Given the description of an element on the screen output the (x, y) to click on. 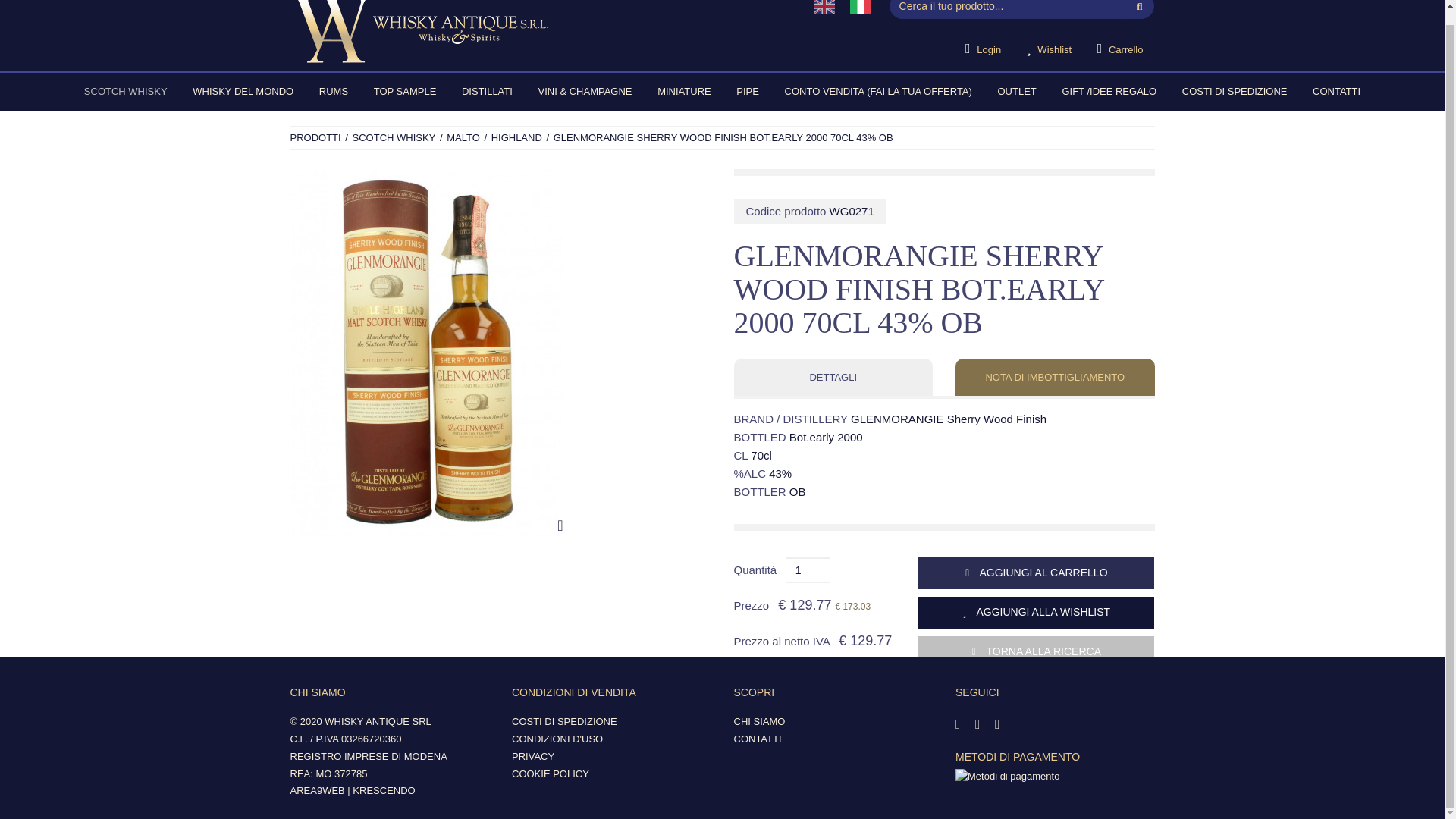
Carrello (1120, 49)
RUMS (333, 91)
Login (982, 49)
WHISKY DEL MONDO (242, 91)
Wishlist (1048, 49)
IT (860, 6)
SCOTCH WHISKY (125, 91)
IT (860, 6)
Wishlist (1048, 49)
1 (807, 570)
